Given the description of an element on the screen output the (x, y) to click on. 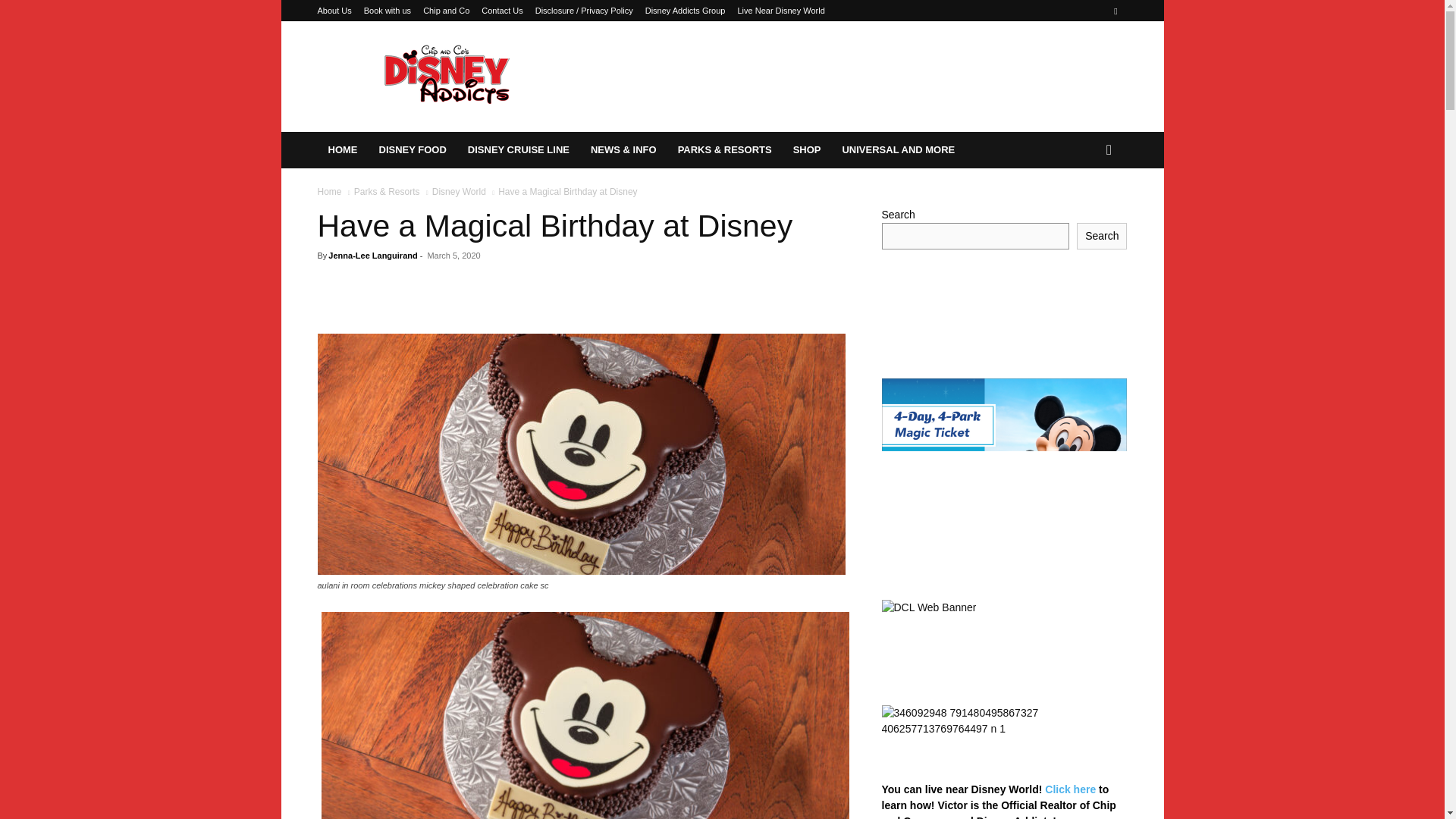
Book with us (387, 10)
DISNEY CRUISE LINE (518, 149)
Jenna-Lee Languirand (372, 255)
Disney Addicts Logo (445, 76)
SHOP (807, 149)
View all posts in Disney World (459, 191)
Home (328, 191)
Disney World (459, 191)
Search (1085, 210)
Disney Addicts Group (685, 10)
